Given the description of an element on the screen output the (x, y) to click on. 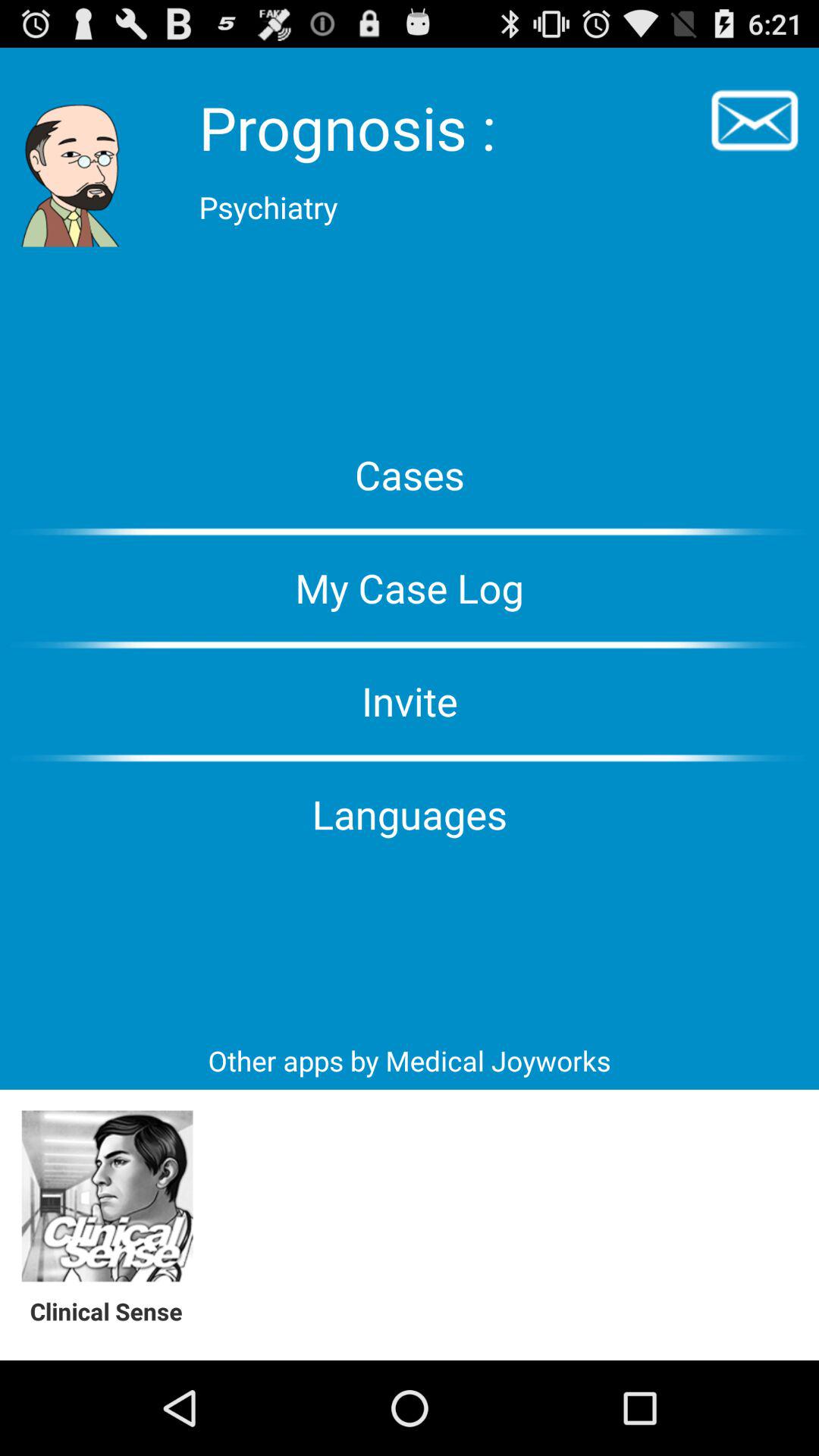
open app (107, 1196)
